Given the description of an element on the screen output the (x, y) to click on. 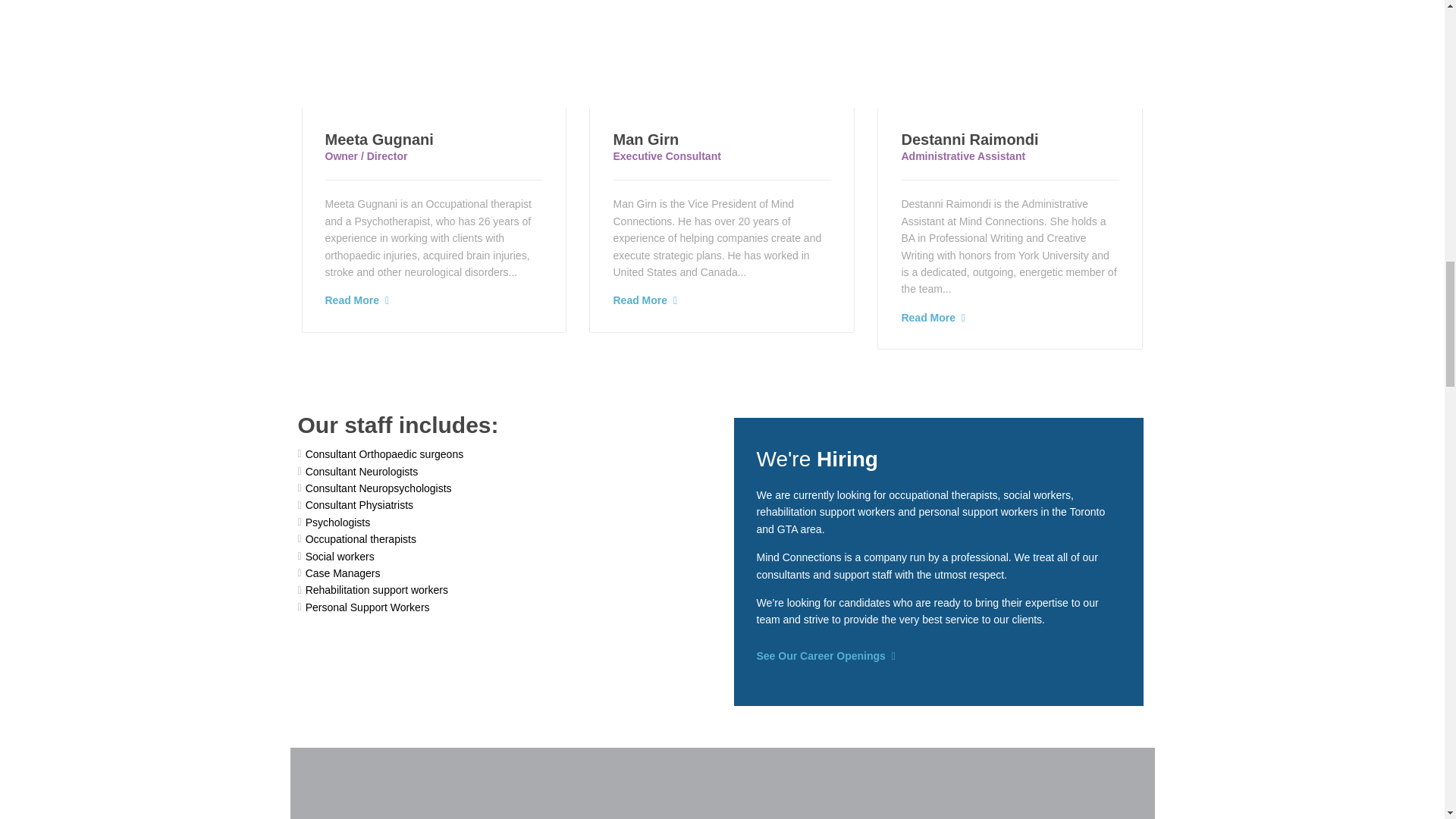
Meeta Gugnani (378, 139)
Read More (351, 299)
